Given the description of an element on the screen output the (x, y) to click on. 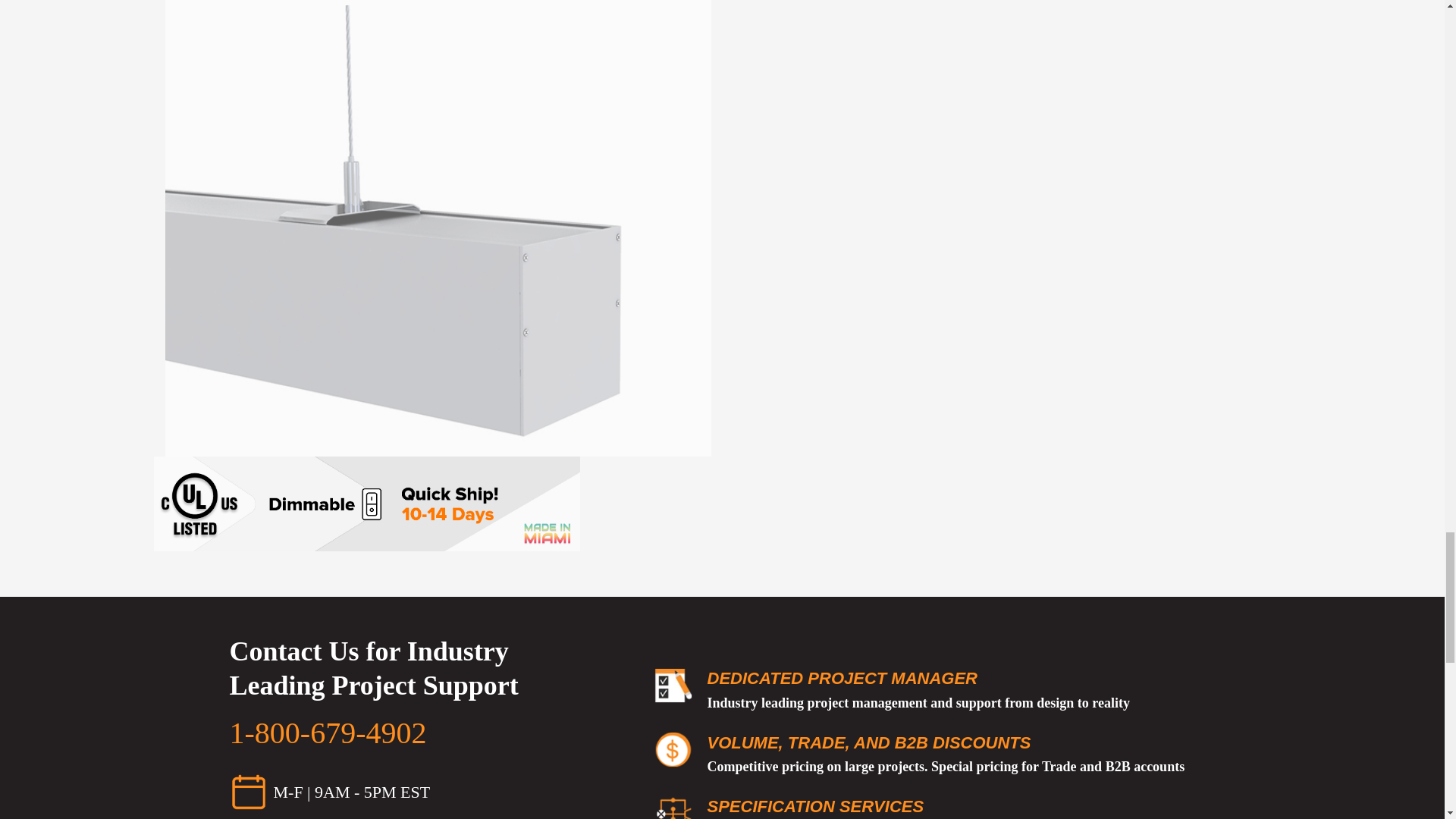
Contact Us Today (247, 791)
